Given the description of an element on the screen output the (x, y) to click on. 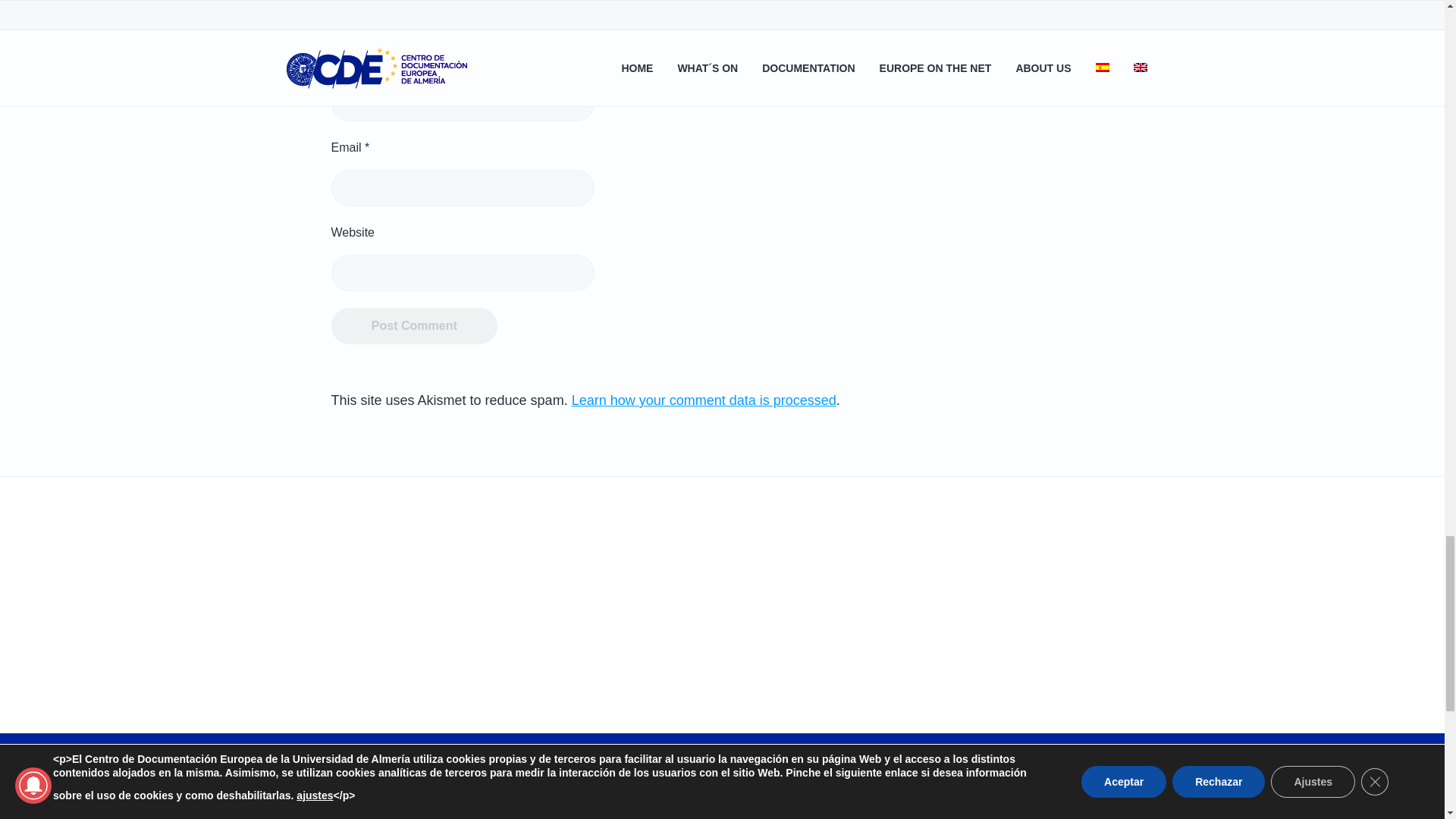
Post Comment (413, 325)
